Given the description of an element on the screen output the (x, y) to click on. 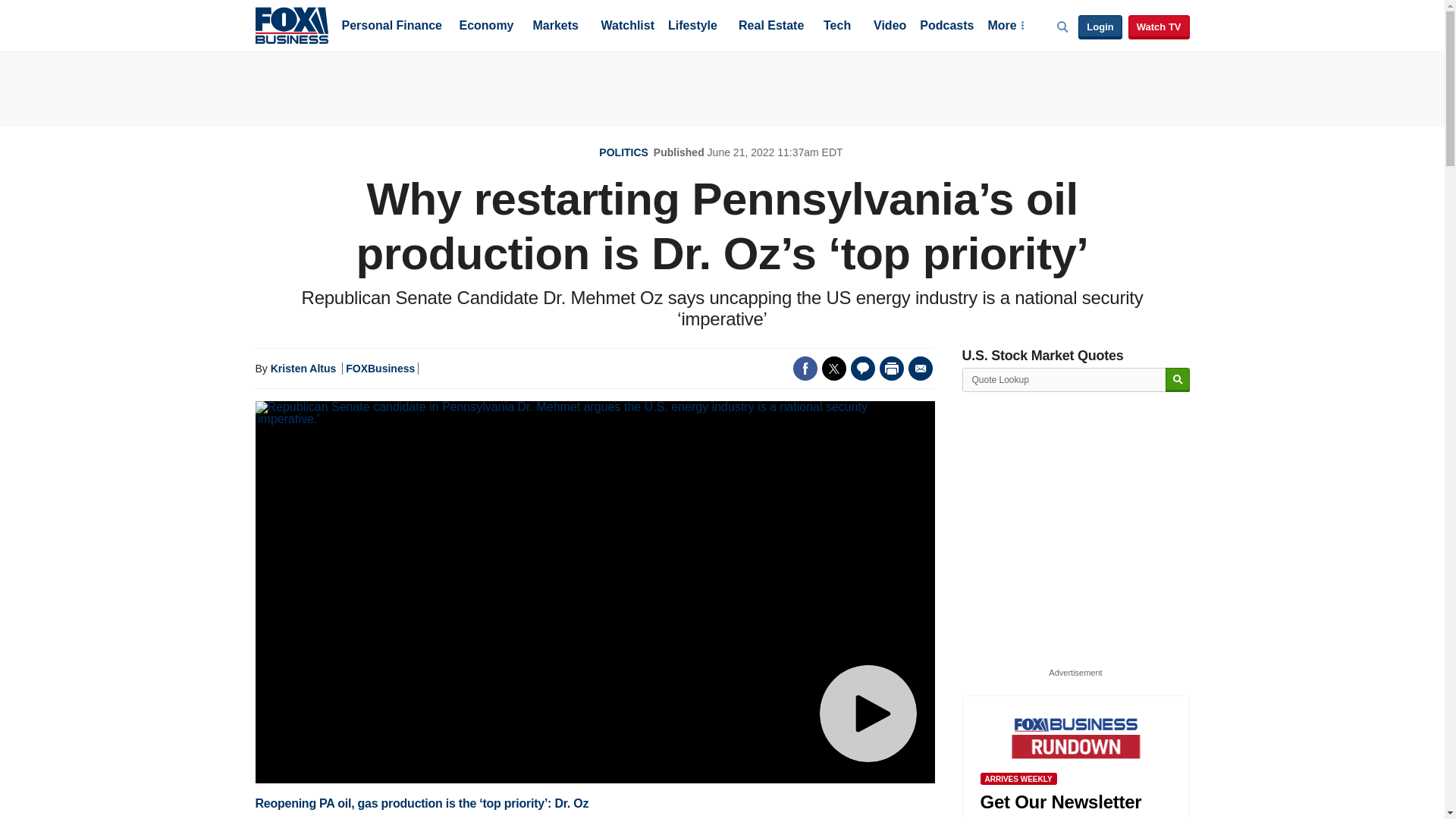
Search (1176, 380)
Economy (486, 27)
Watchlist (626, 27)
Personal Finance (391, 27)
Video (889, 27)
More (1005, 27)
Real Estate (770, 27)
Watch TV (1158, 27)
Login (1099, 27)
Tech (837, 27)
